Given the description of an element on the screen output the (x, y) to click on. 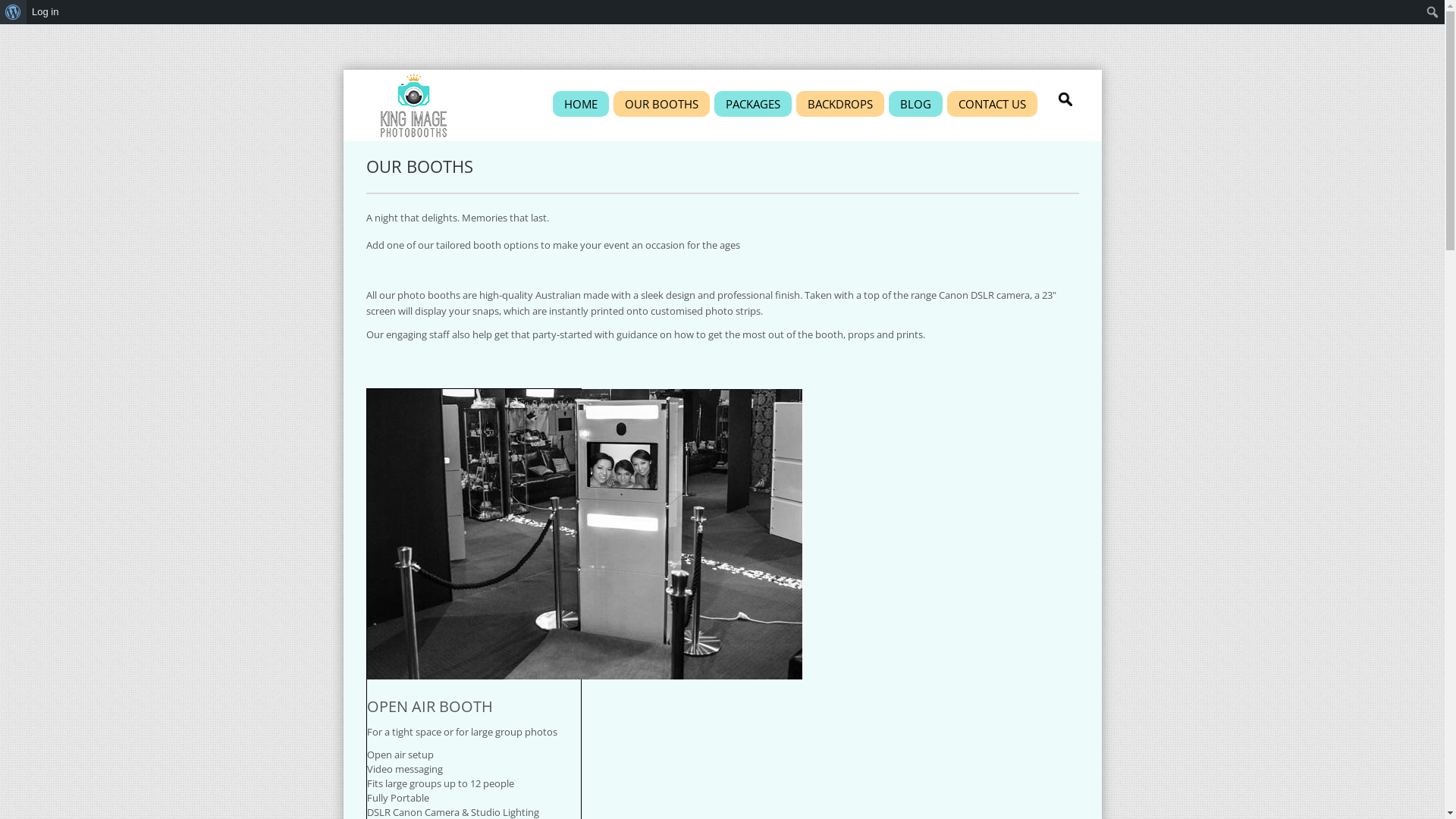
PACKAGES Element type: text (752, 103)
BLOG Element type: text (915, 103)
King Image PhotoBooths Element type: hover (413, 105)
OUR BOOTHS Element type: text (660, 103)
BACKDROPS Element type: text (840, 103)
HOME Element type: text (580, 103)
Search Element type: text (16, 12)
Log in Element type: text (45, 12)
CONTACT US Element type: text (991, 103)
OPEN BOOTH Element type: hover (585, 534)
search Element type: text (1066, 101)
